Given the description of an element on the screen output the (x, y) to click on. 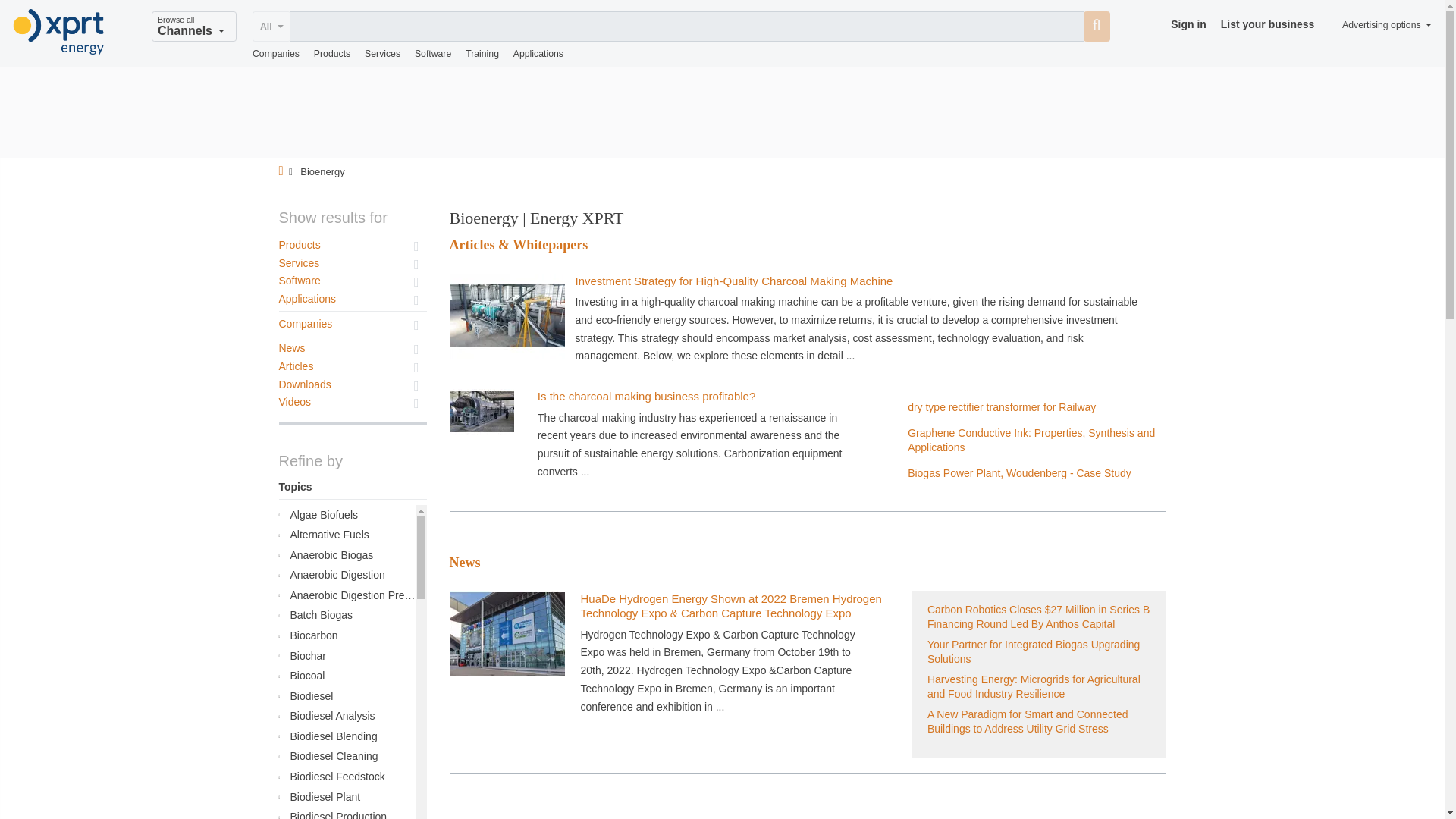
Algae Biofuels (344, 515)
3rd party ad content (721, 111)
Alternative Fuels (344, 535)
Logo Energy XPRT (58, 31)
